Given the description of an element on the screen output the (x, y) to click on. 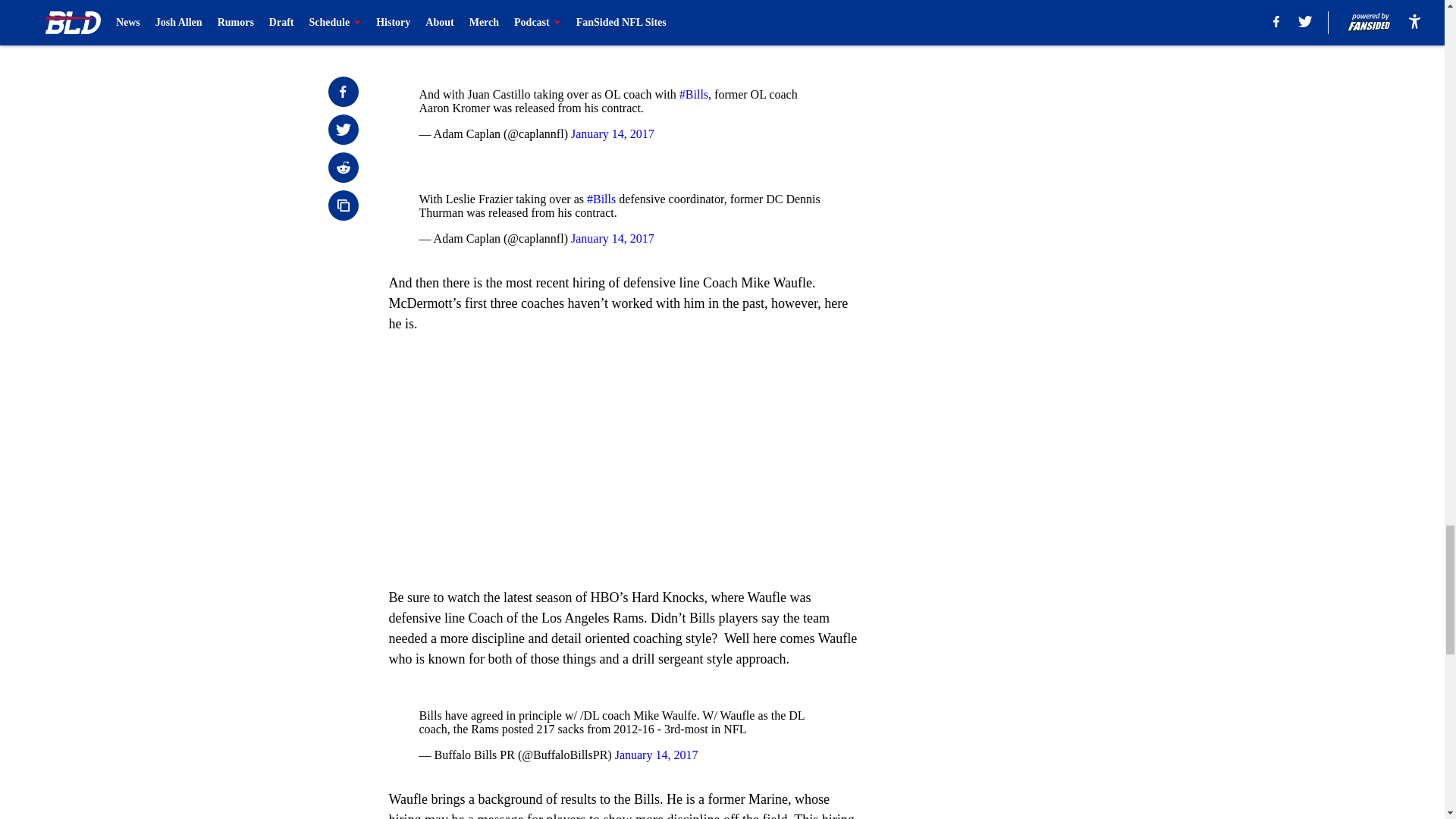
January 14, 2017 (656, 754)
January 14, 2017 (611, 237)
January 14, 2017 (611, 133)
